Given the description of an element on the screen output the (x, y) to click on. 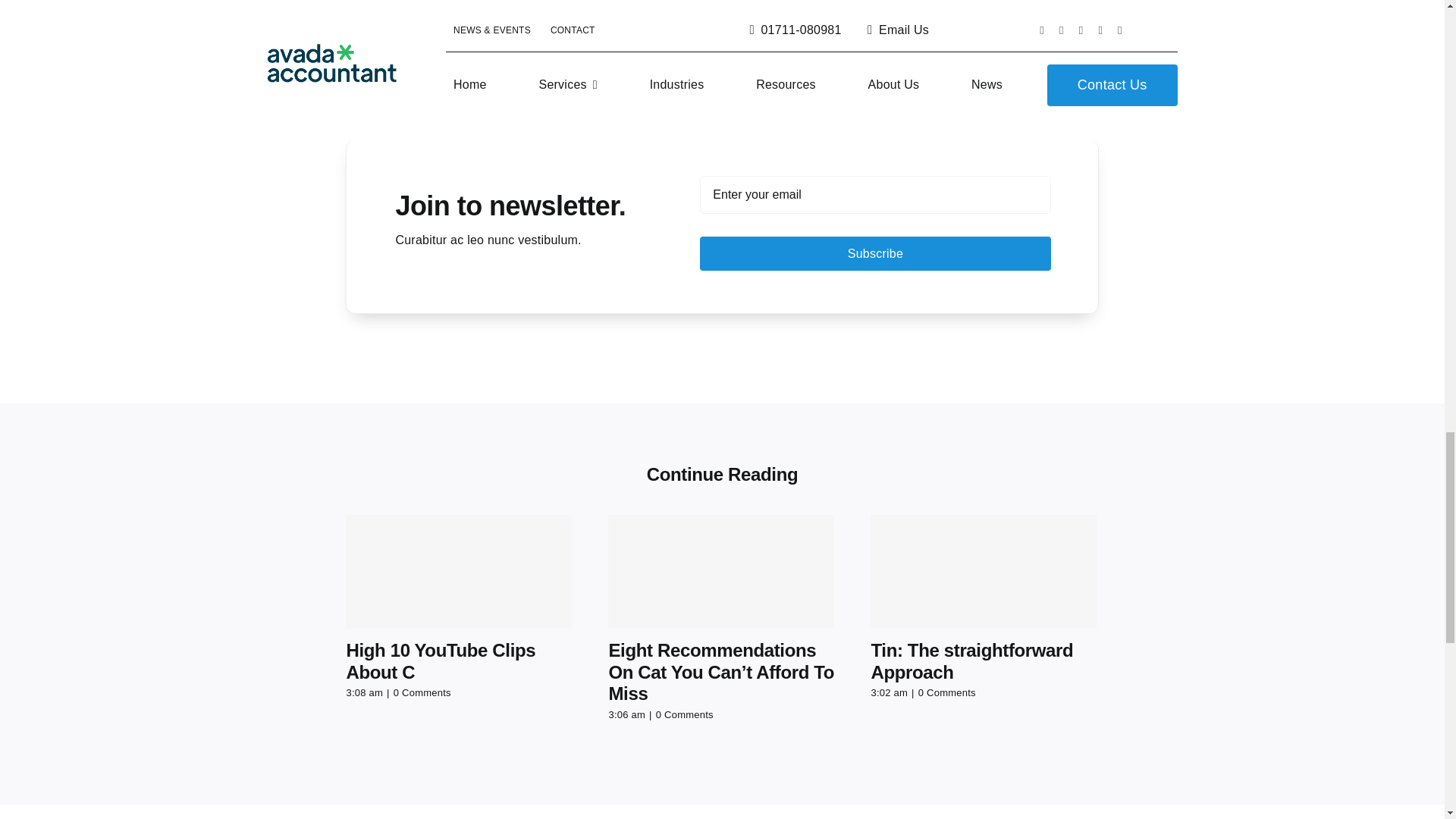
Tin: The straightforward Approach (971, 660)
High 10 YouTube Clips About C (440, 660)
Subscribe (875, 223)
